Given the description of an element on the screen output the (x, y) to click on. 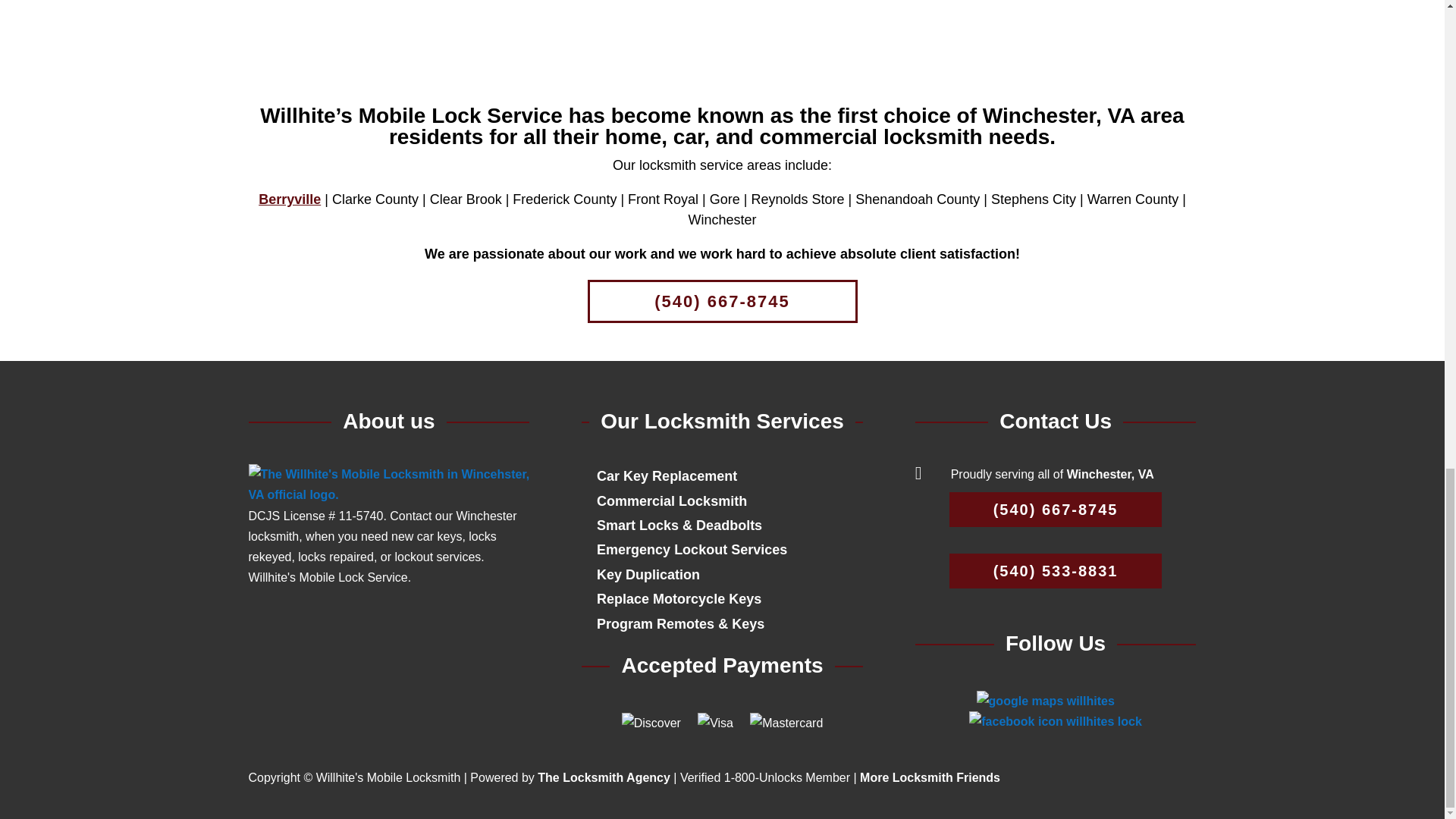
Mastercard (784, 722)
More Locksmith Friends (930, 777)
Car Key Replacement (666, 476)
The Locksmith Agency (603, 777)
Emergency Lockout Services (691, 549)
Commercial Locksmith (671, 500)
Berryville (289, 199)
Visa (715, 722)
Replace Motorcycle Keys (678, 598)
Key Duplication (648, 574)
